Given the description of an element on the screen output the (x, y) to click on. 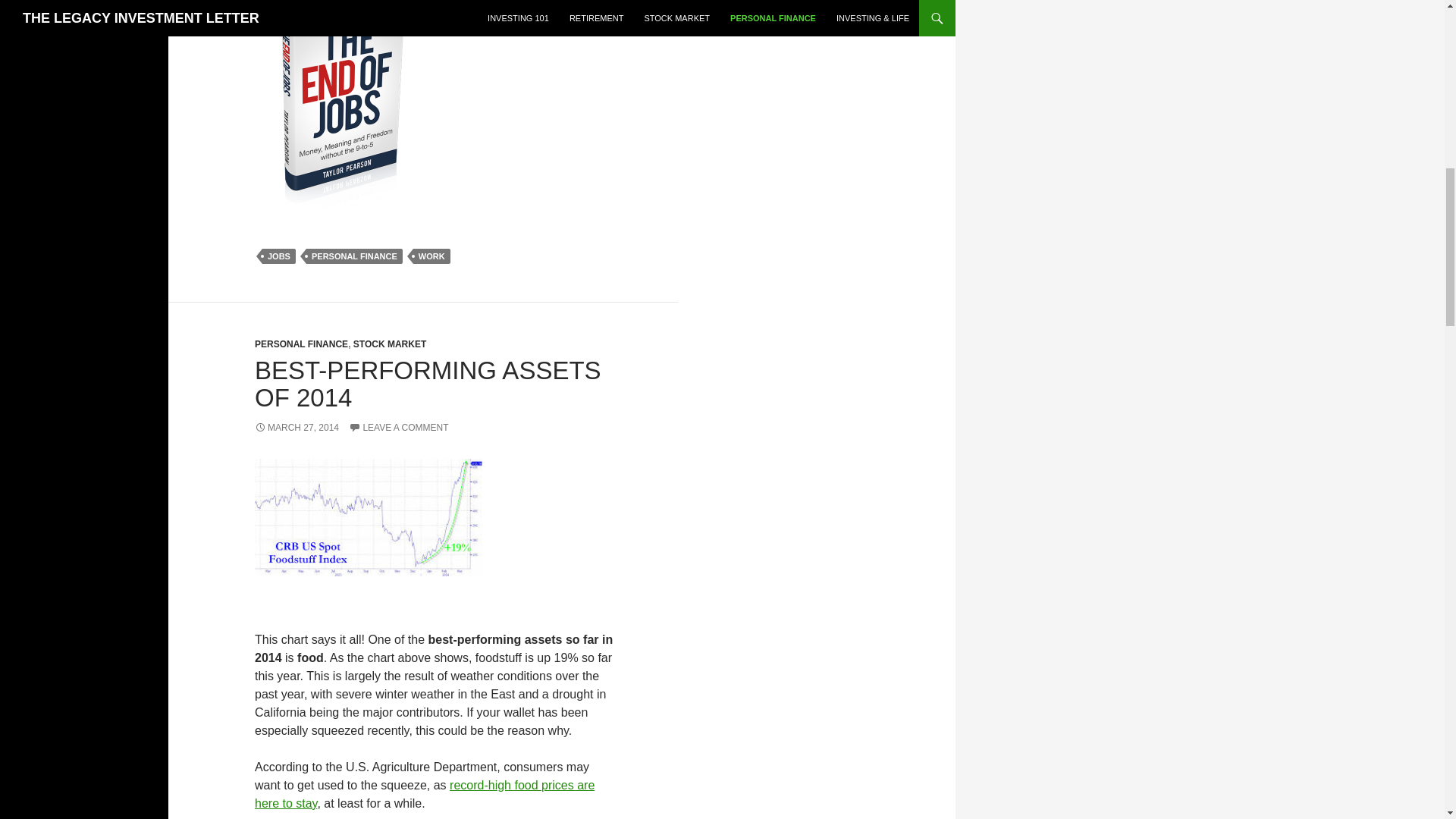
WORK (431, 255)
PERSONAL FINANCE (354, 255)
PERSONAL FINANCE (300, 344)
record-high food prices are here to stay (424, 793)
JOBS (278, 255)
LEAVE A COMMENT (398, 427)
STOCK MARKET (389, 344)
MARCH 27, 2014 (296, 427)
BEST-PERFORMING ASSETS OF 2014 (427, 383)
